Given the description of an element on the screen output the (x, y) to click on. 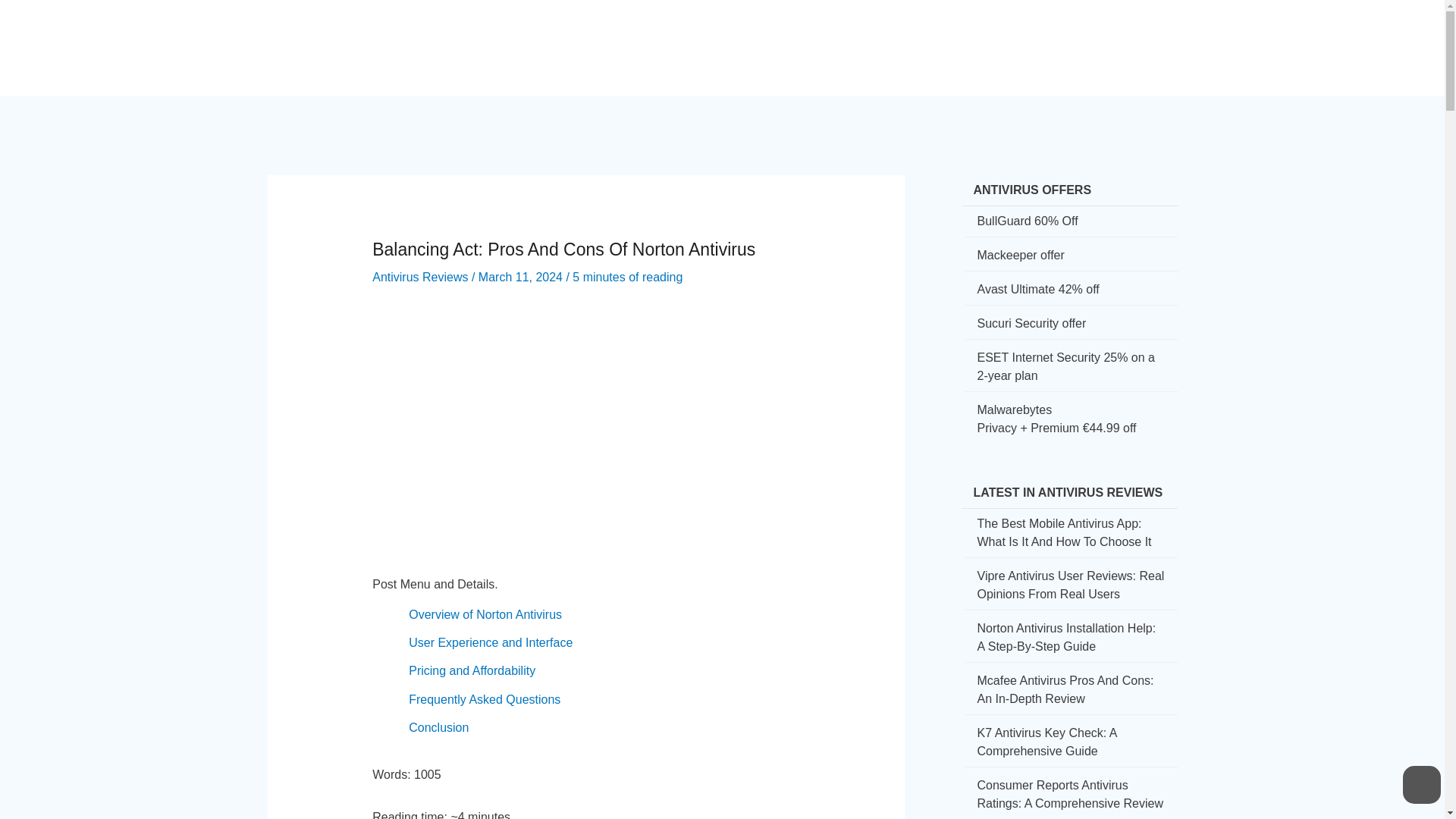
10 Best (1064, 35)
Antivirus Reviews (419, 277)
Finances (929, 35)
Social (863, 35)
Conclusion (438, 727)
How-To (802, 35)
Overview of Norton Antivirus (485, 614)
Gaming (999, 35)
Cyber Security (713, 35)
Misc (1122, 35)
